Given the description of an element on the screen output the (x, y) to click on. 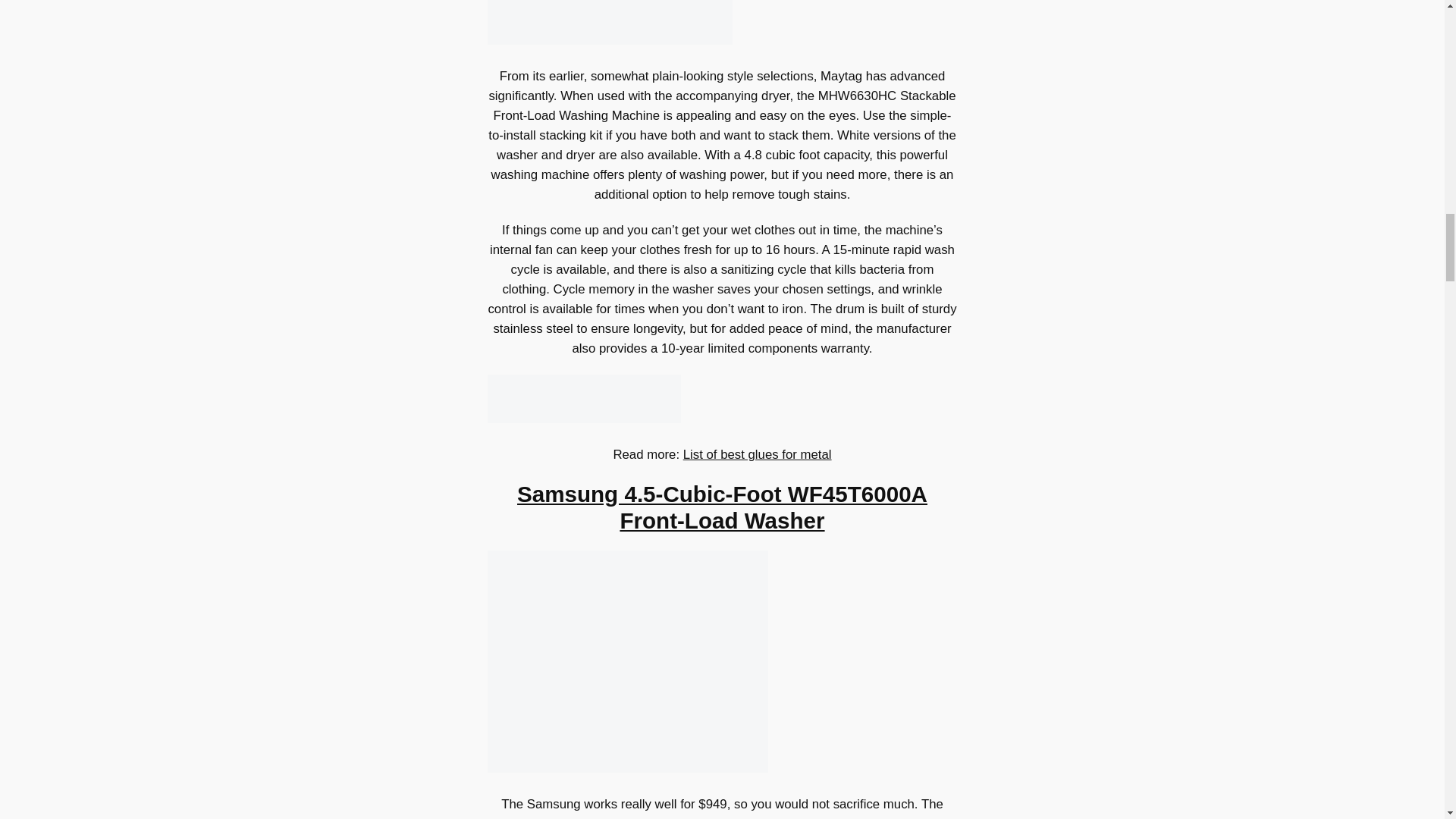
Samsung 4.5-Cubic-Foot WF45T6000A Front-Load Washer (721, 507)
List of best glues for metal (756, 454)
